Given the description of an element on the screen output the (x, y) to click on. 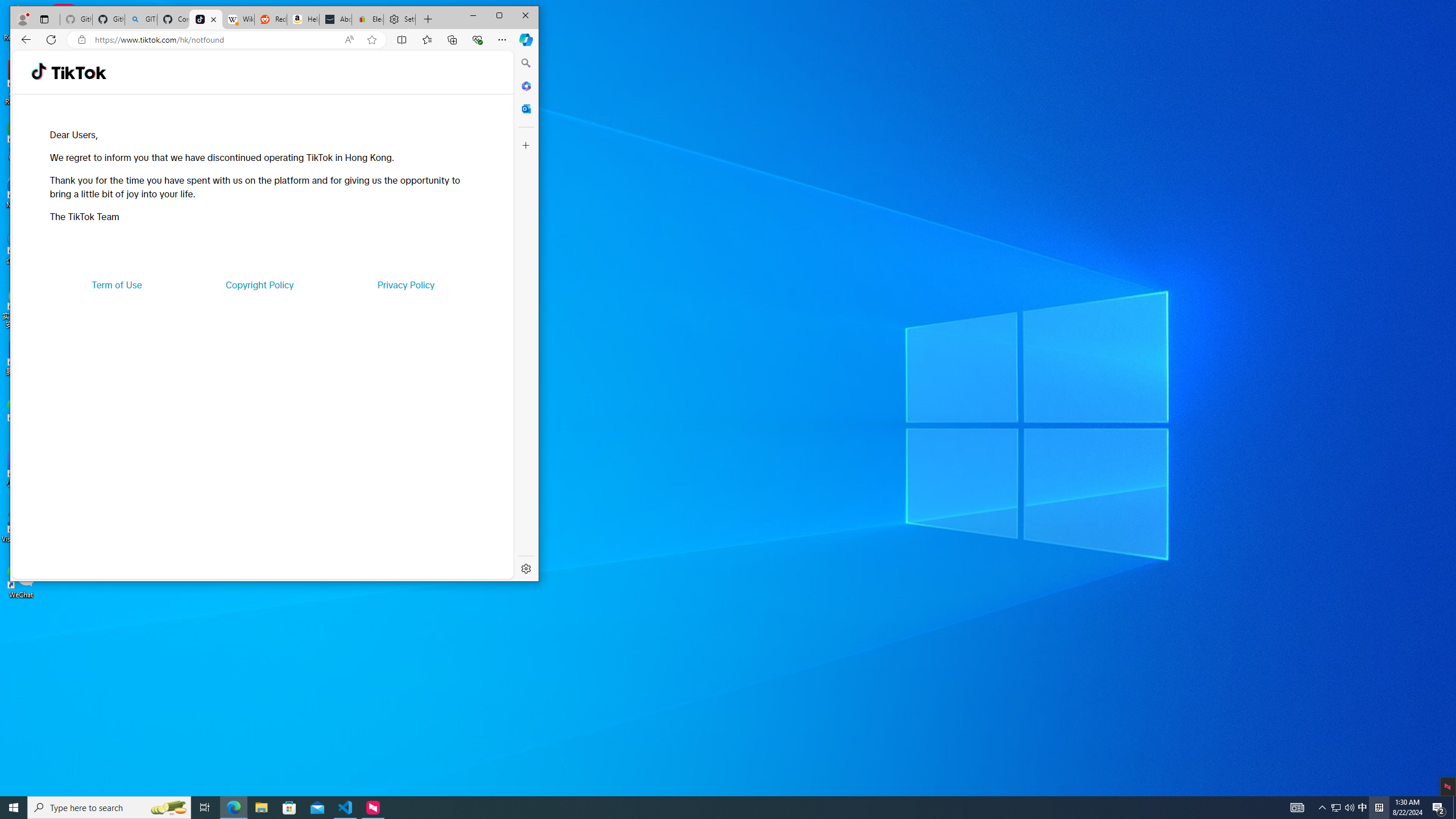
GITHUB - Search (140, 19)
